Given the description of an element on the screen output the (x, y) to click on. 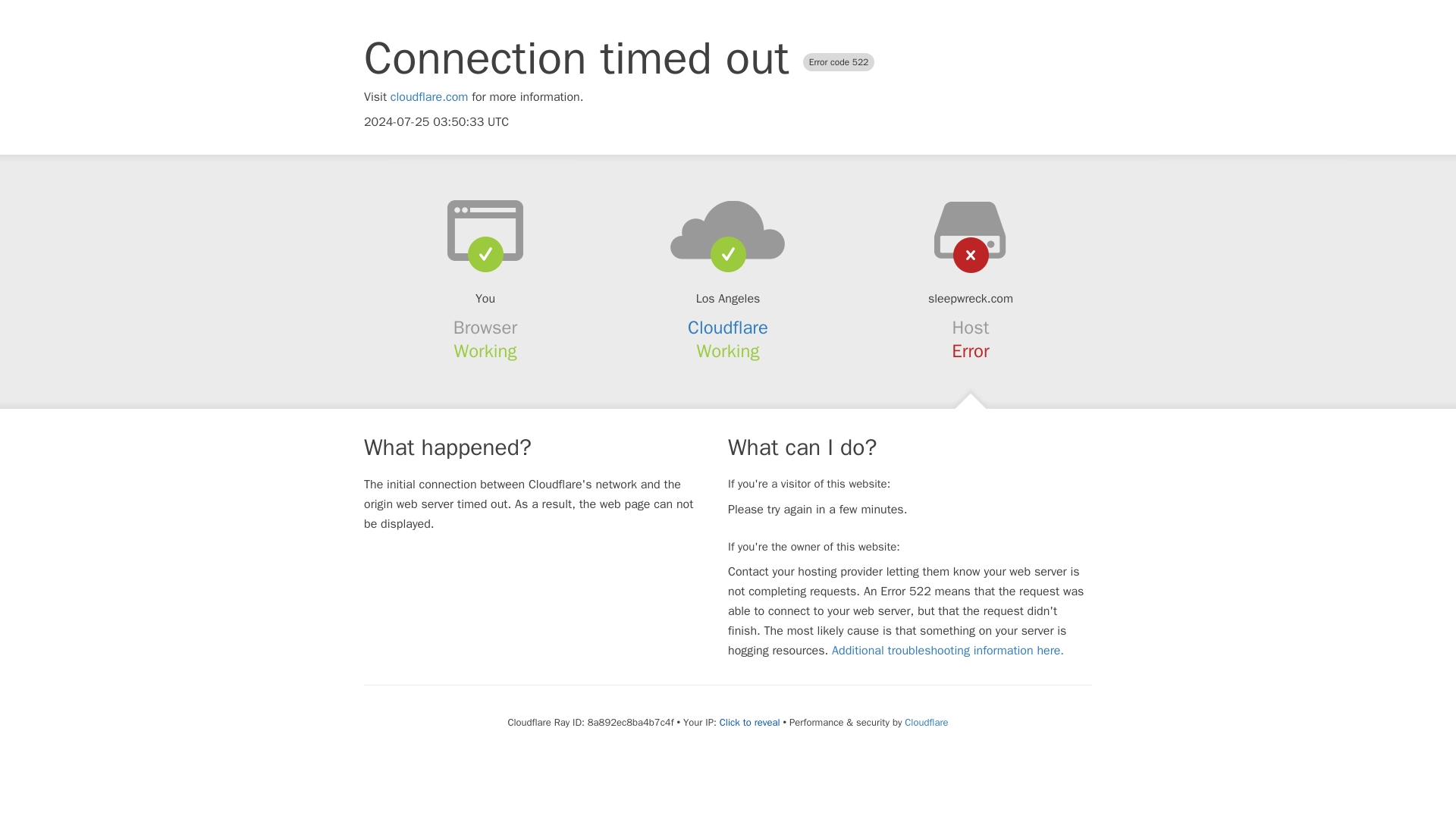
Cloudflare (727, 327)
Cloudflare (925, 721)
Click to reveal (749, 722)
cloudflare.com (429, 96)
Additional troubleshooting information here. (947, 650)
